Given the description of an element on the screen output the (x, y) to click on. 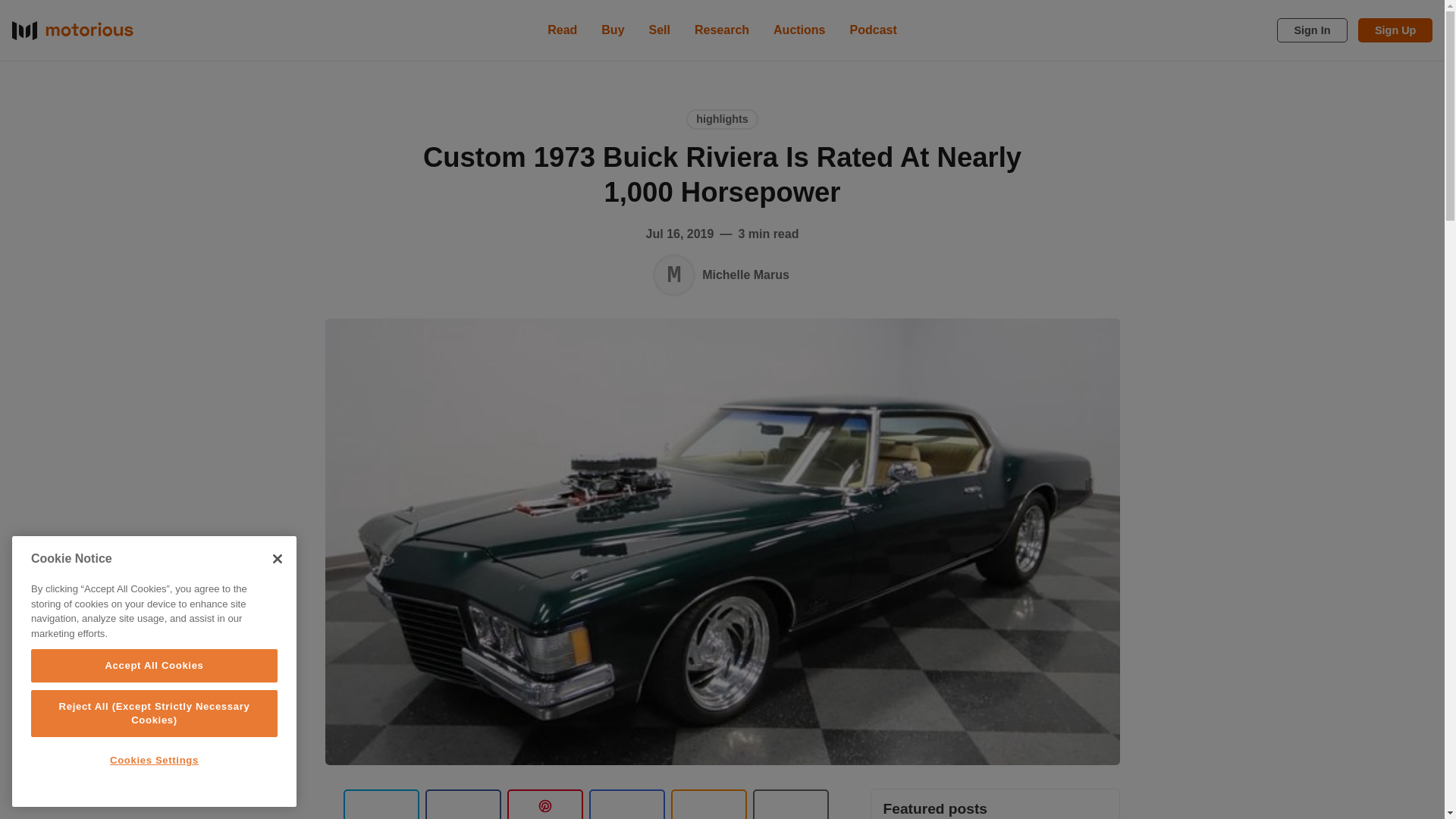
Share on Linkedin (544, 804)
Michelle Marus (674, 275)
Share by email (625, 804)
highlights (721, 118)
Copy to clipboard (707, 804)
Buy (612, 29)
Sell (659, 29)
Research (721, 29)
Auctions (799, 29)
Share on Facebook (462, 804)
Michelle Marus (745, 274)
Michelle Marus (674, 275)
Sign In (1312, 30)
Share on Twitter (380, 804)
Bookmark (790, 804)
